Given the description of an element on the screen output the (x, y) to click on. 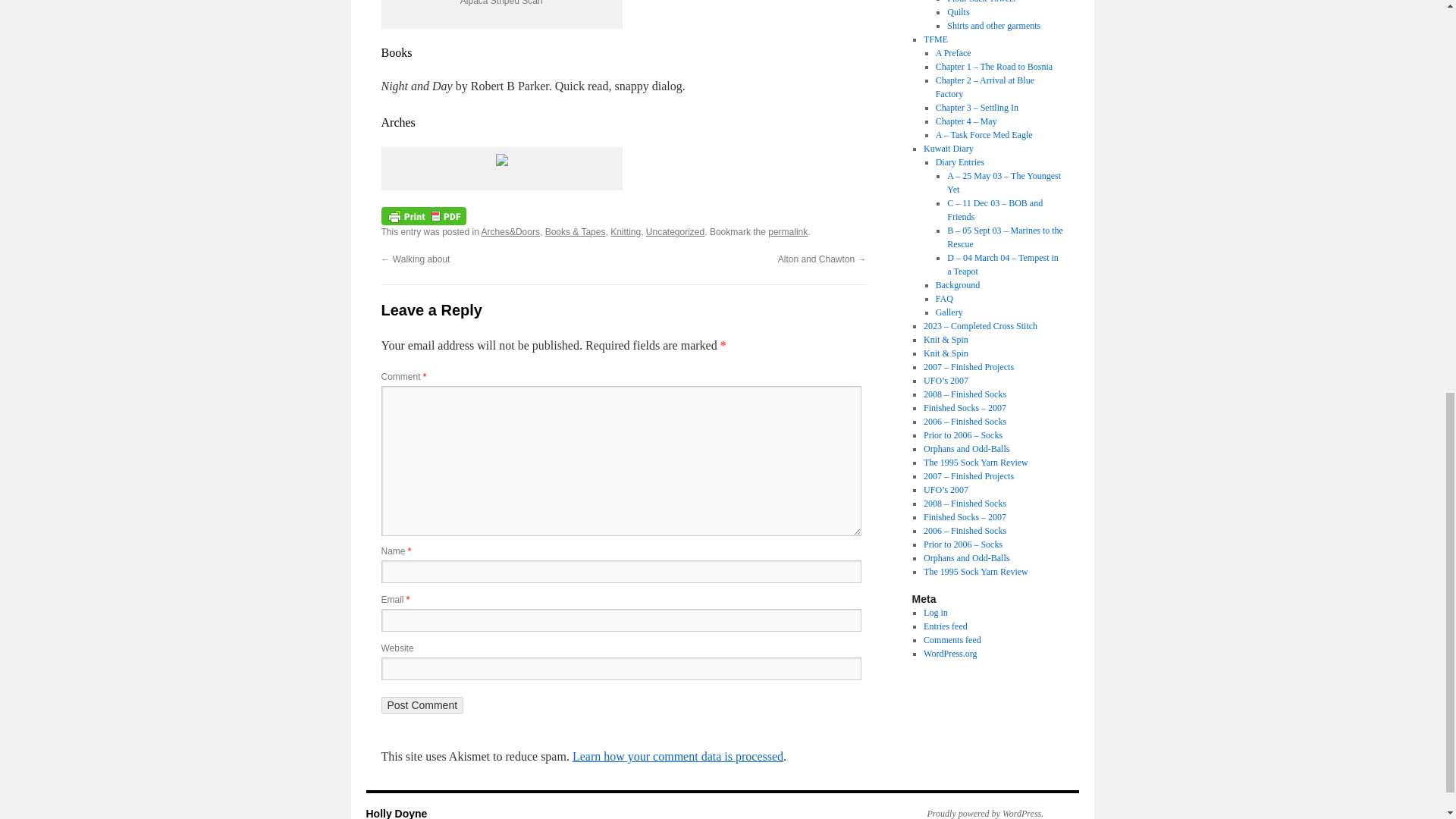
Permalink to Finishing things (788, 231)
Knitting (625, 231)
Uncategorized (675, 231)
Learn how your comment data is processed (677, 756)
permalink (788, 231)
Post Comment (421, 704)
Post Comment (421, 704)
